Given the description of an element on the screen output the (x, y) to click on. 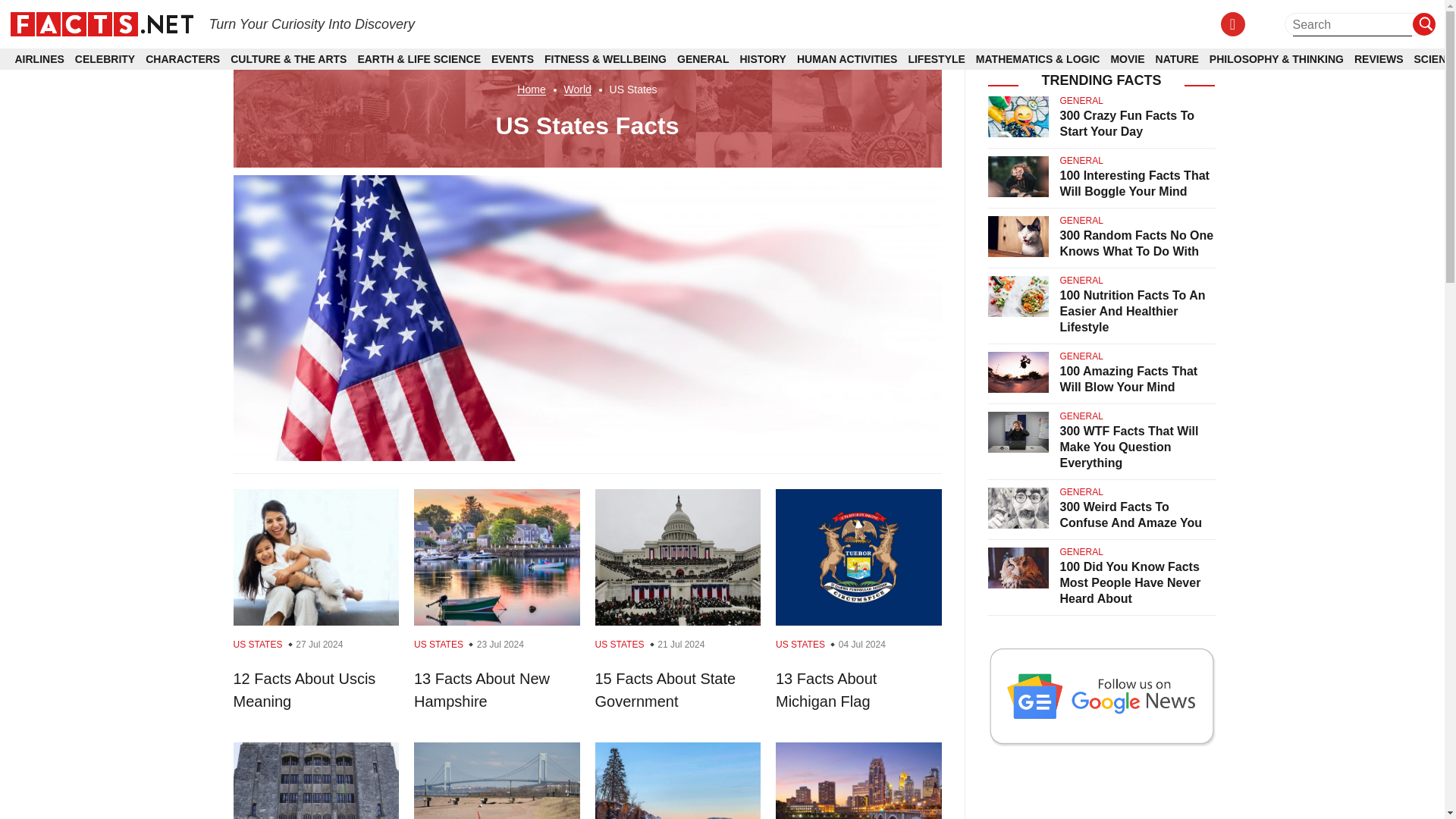
300 Weird Facts To Confuse And Amaze You  (1130, 514)
CHARACTERS (182, 59)
300 Crazy Fun Facts To Start Your Day  (1127, 123)
EVENTS (513, 59)
CELEBRITY (105, 59)
100 Interesting Facts That Will Boggle Your Mind  (1134, 183)
GENERAL (703, 59)
300 Random Facts No One Knows What To Do With  (1136, 243)
HISTORY (762, 59)
Facts.net (100, 23)
LIFESTYLE (935, 59)
100 Amazing Facts That Will Blow Your Mind  (1128, 378)
300 WTF Facts That Will Make You Question Everything  (1128, 447)
AIRLINES (39, 59)
100 Nutrition Facts To An Easier And Healthier Lifestyle  (1132, 311)
